Given the description of an element on the screen output the (x, y) to click on. 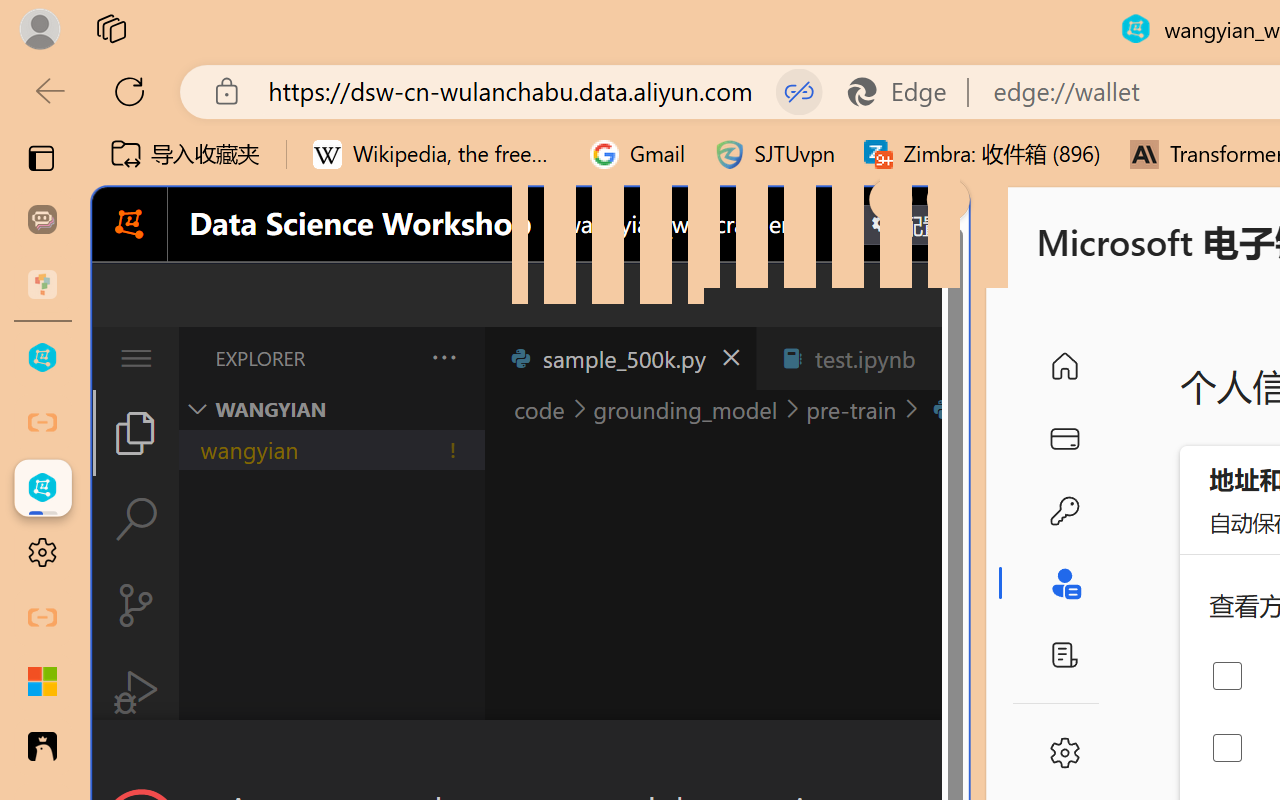
Views and More Actions... (442, 357)
